Given the description of an element on the screen output the (x, y) to click on. 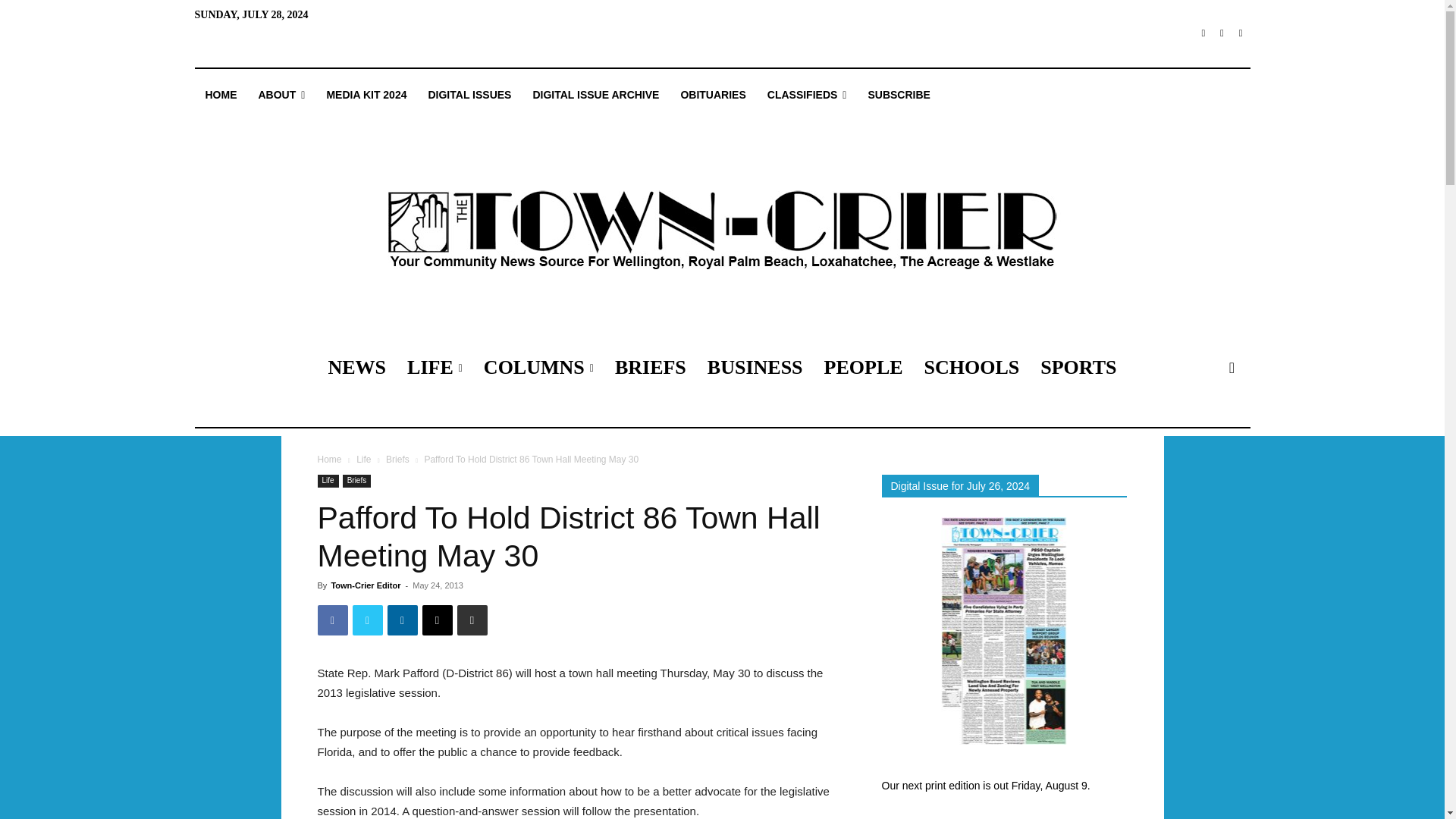
ABOUT (281, 94)
Facebook (1202, 33)
View all posts in Life (363, 459)
Instagram (1221, 33)
View all posts in Briefs (397, 459)
DIGITAL ISSUES (468, 94)
Twitter (1240, 33)
Town-Crier Newspaper (721, 230)
OBITUARIES (712, 94)
MEDIA KIT 2024 (365, 94)
SUBSCRIBE (898, 94)
DIGITAL ISSUE ARCHIVE (595, 94)
Town-Crier Newspaper (721, 230)
